Given the description of an element on the screen output the (x, y) to click on. 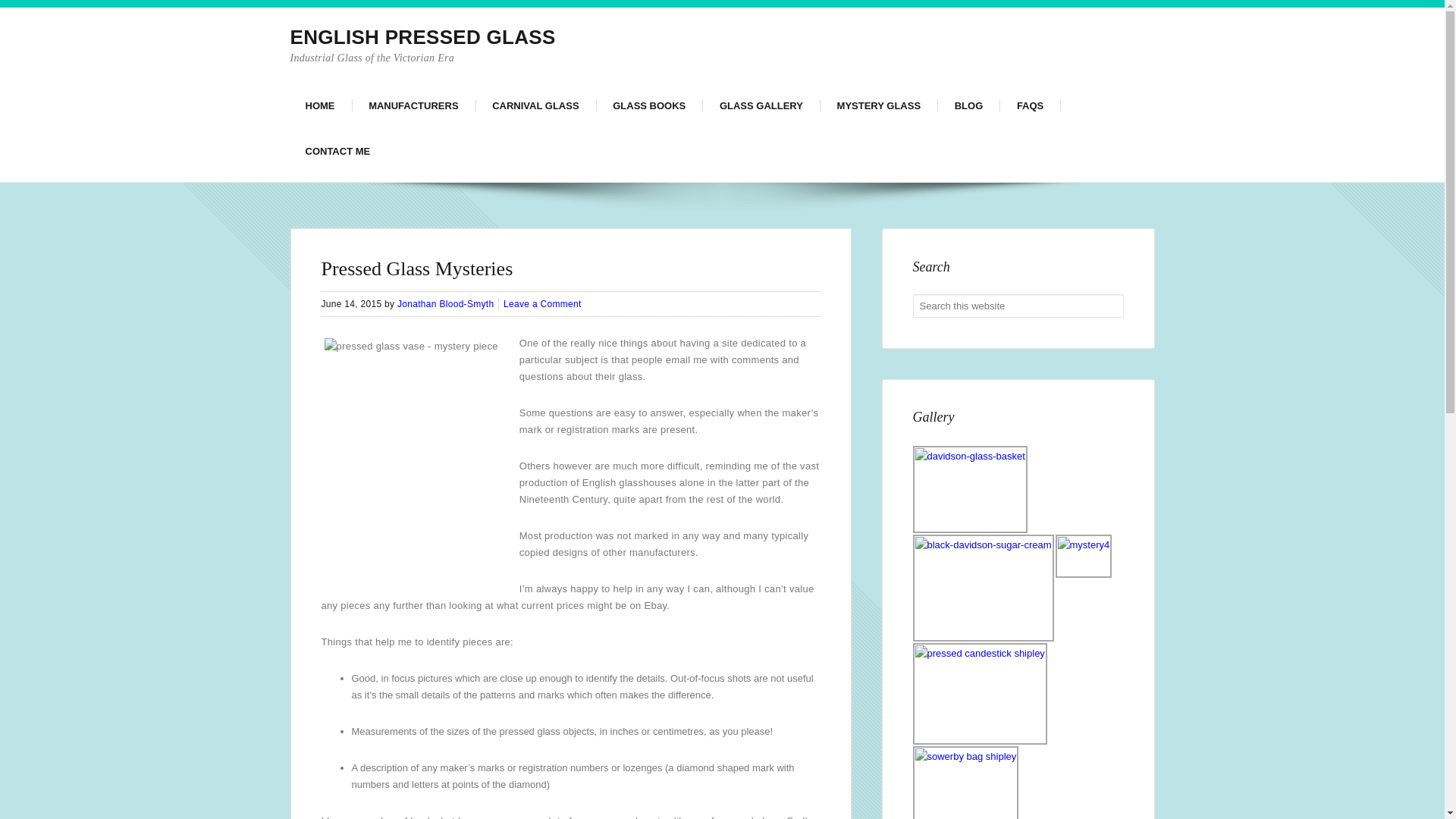
HOME (319, 105)
BLOG (968, 105)
GLASS BOOKS (648, 105)
MYSTERY GLASS (879, 105)
sowerby bag shipley (965, 782)
mystery4 (1083, 556)
pressed candestick shipley (979, 693)
Jonathan Blood-Smyth (445, 303)
black-davidson-sugar-cream (983, 587)
CONTACT ME (337, 151)
FAQS (1030, 105)
GLASS GALLERY (761, 105)
